Given the description of an element on the screen output the (x, y) to click on. 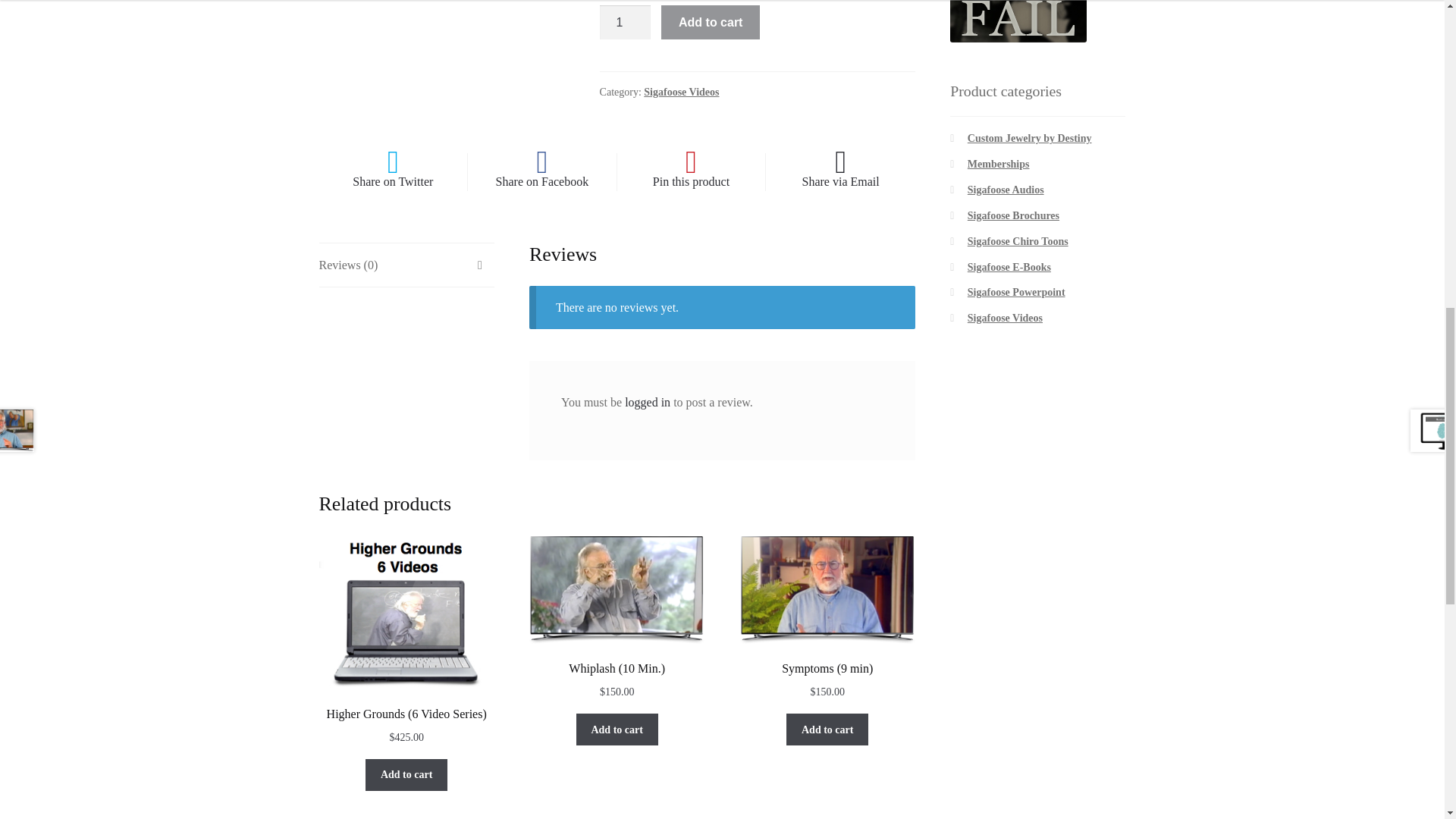
Sigafoose Videos (681, 91)
Add to cart (710, 22)
Share on Twitter (392, 171)
Share via Email (840, 171)
Pin this product (691, 171)
1 (624, 22)
Share on Facebook (541, 171)
